Given the description of an element on the screen output the (x, y) to click on. 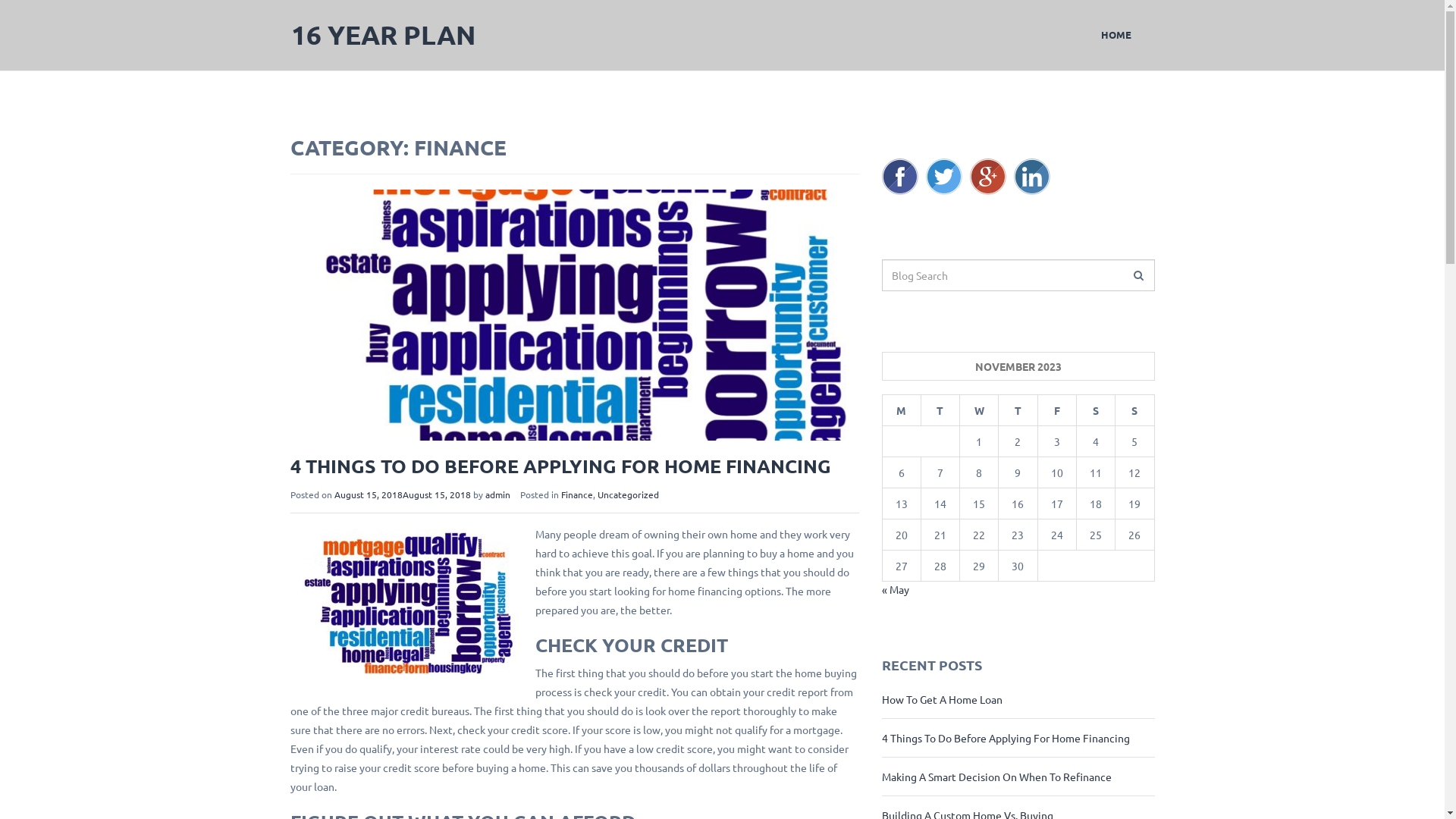
admin Element type: text (497, 494)
August 15, 2018August 15, 2018 Element type: text (401, 494)
How To Get A Home Loan Element type: text (941, 699)
16 YEAR PLAN Element type: text (383, 34)
4 Things To Do Before Applying For Home Financing Element type: text (1005, 737)
4 THINGS TO DO BEFORE APPLYING FOR HOME FINANCING Element type: text (559, 465)
Making A Smart Decision On When To Refinance Element type: text (995, 776)
Finance Element type: text (577, 494)
HOME Element type: text (1115, 34)
Uncategorized Element type: text (627, 494)
